Given the description of an element on the screen output the (x, y) to click on. 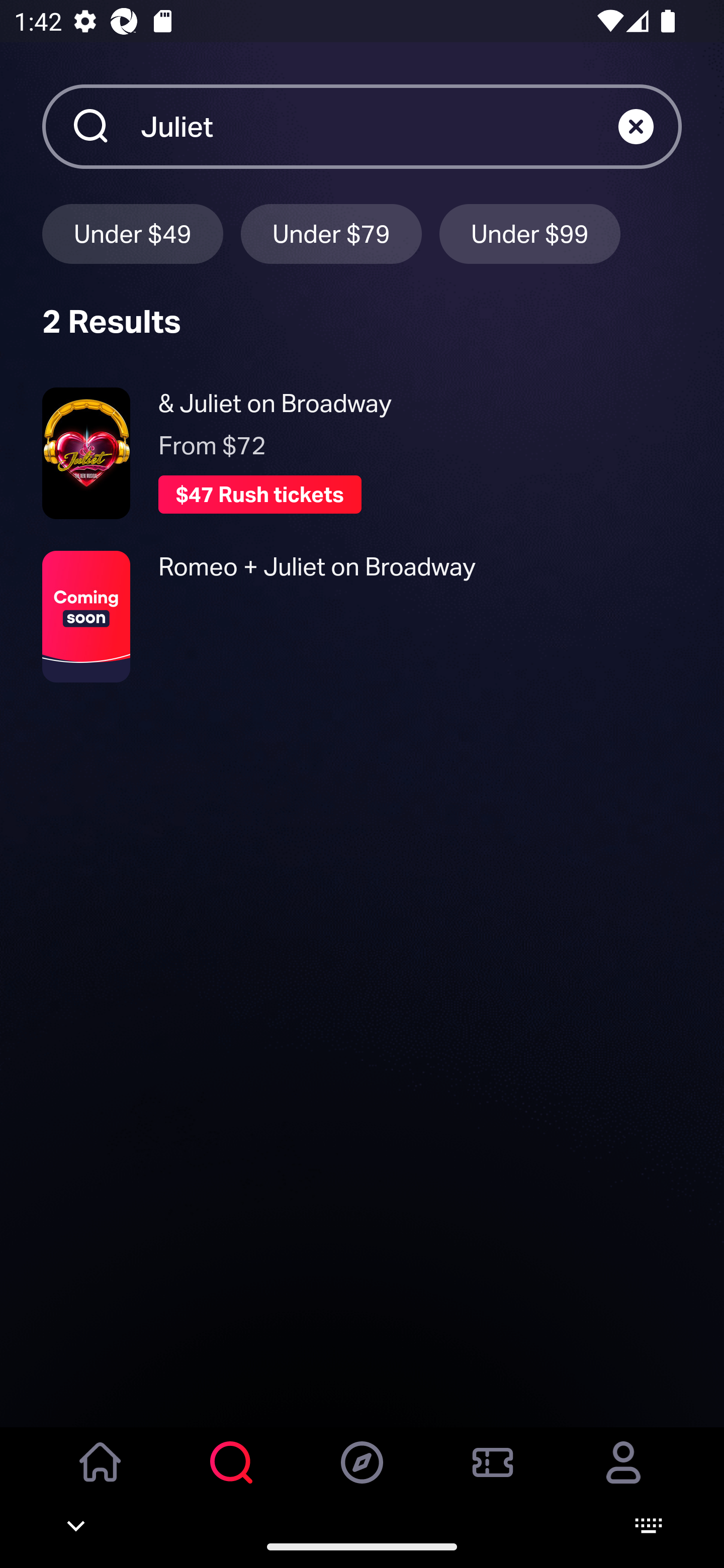
Juliet (379, 126)
Under $49 (131, 233)
Under $79 (331, 233)
Under $99 (529, 233)
Home (100, 1475)
Discover (361, 1475)
Orders (492, 1475)
Account (623, 1475)
